Given the description of an element on the screen output the (x, y) to click on. 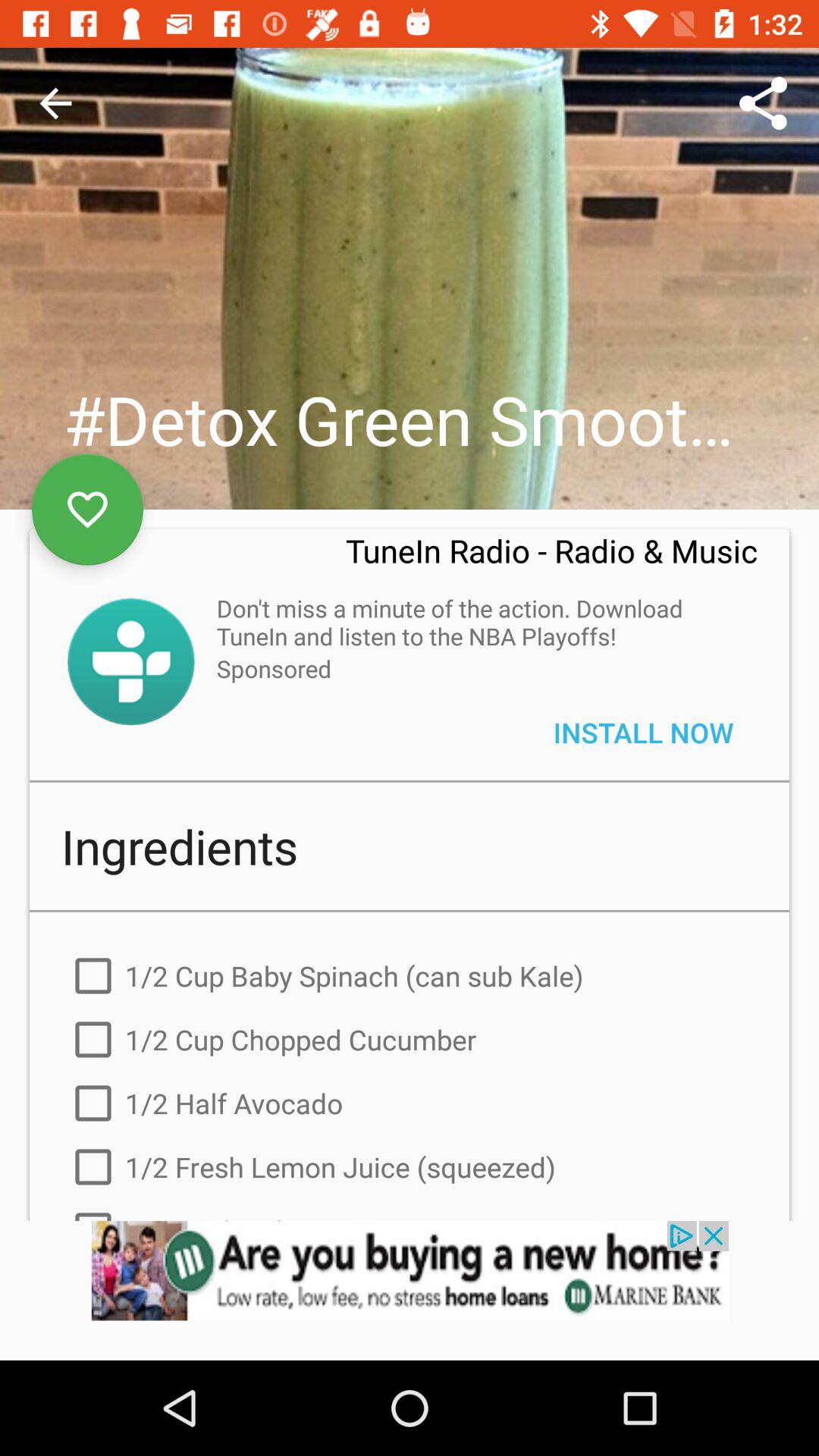
favorite selection (87, 509)
